Given the description of an element on the screen output the (x, y) to click on. 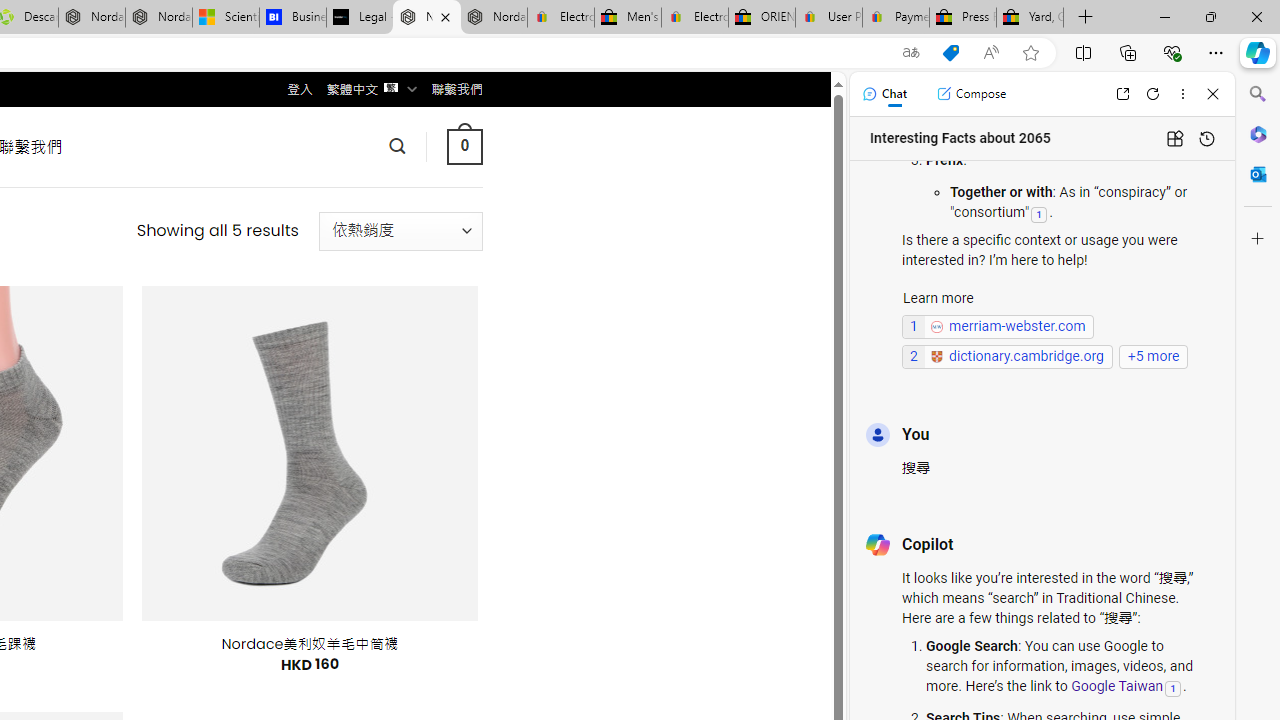
 0  (464, 146)
Minimize Search pane (1258, 94)
